Given the description of an element on the screen output the (x, y) to click on. 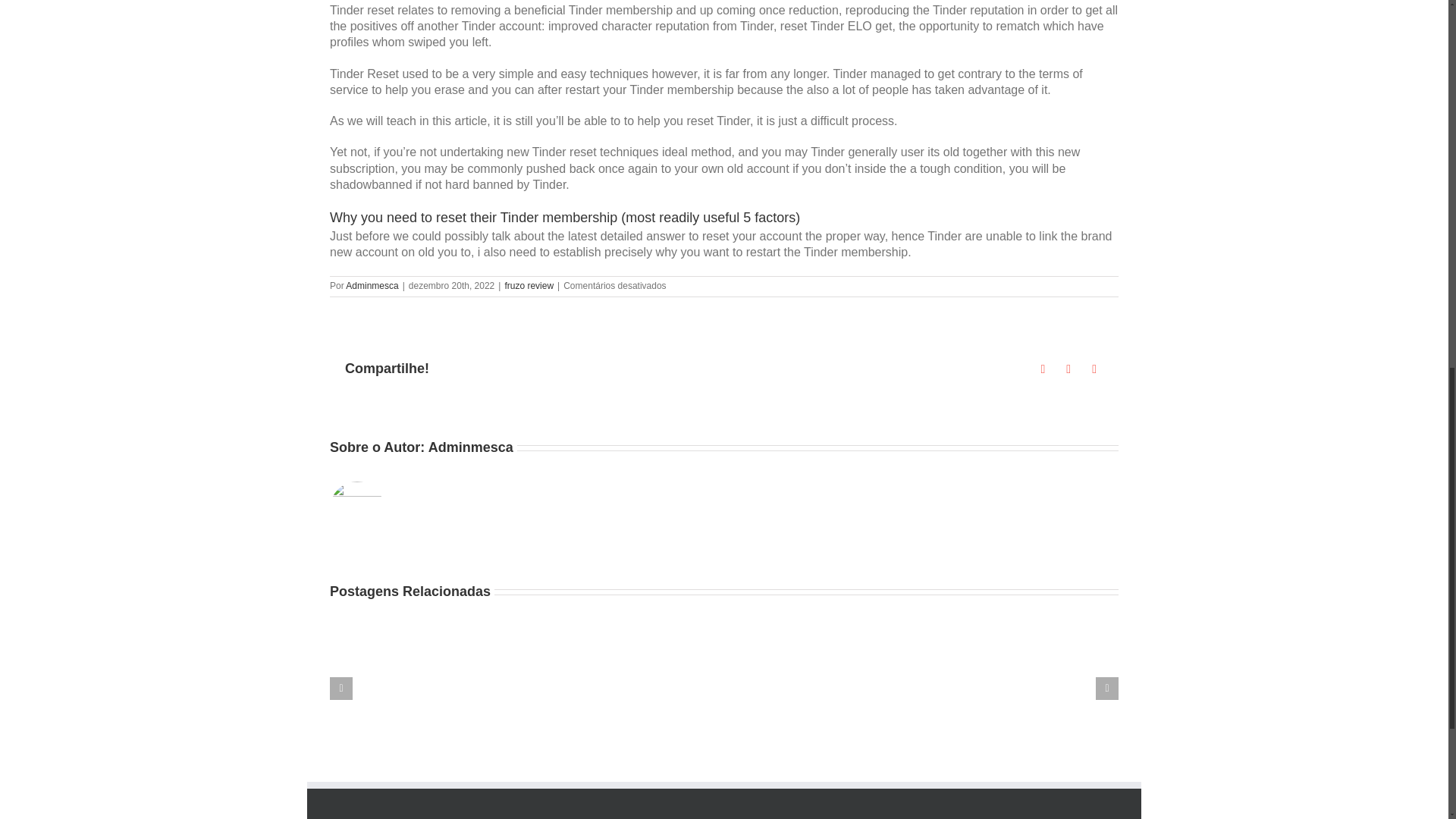
Posts de Adminmesca (371, 285)
Adminmesca (470, 447)
Posts de Adminmesca (470, 447)
fruzo review (528, 285)
Adminmesca (371, 285)
